Given the description of an element on the screen output the (x, y) to click on. 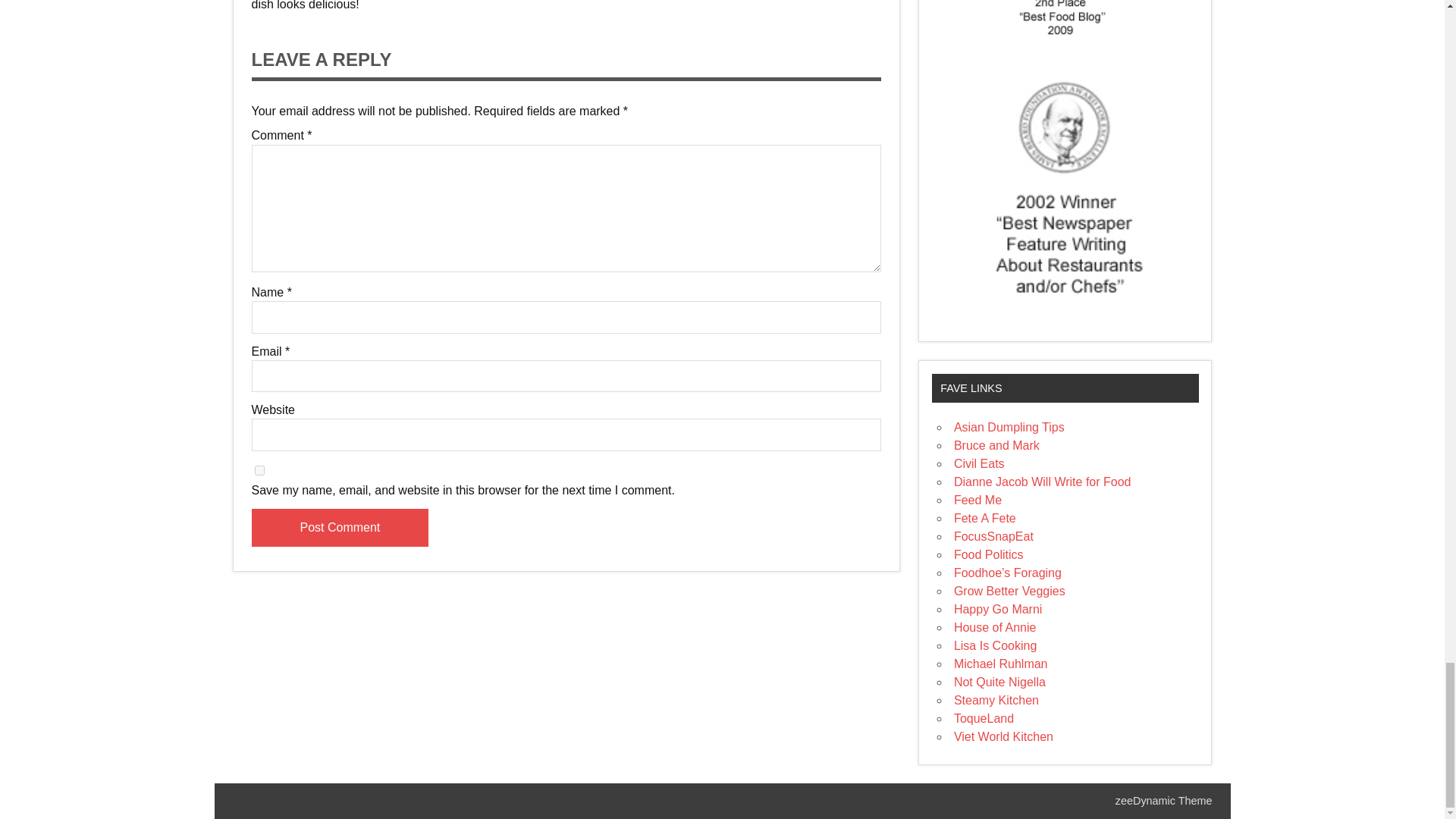
Post Comment (340, 527)
jamesbeardawardfinal (1064, 185)
yes (259, 470)
afjaward1 (1064, 22)
